Given the description of an element on the screen output the (x, y) to click on. 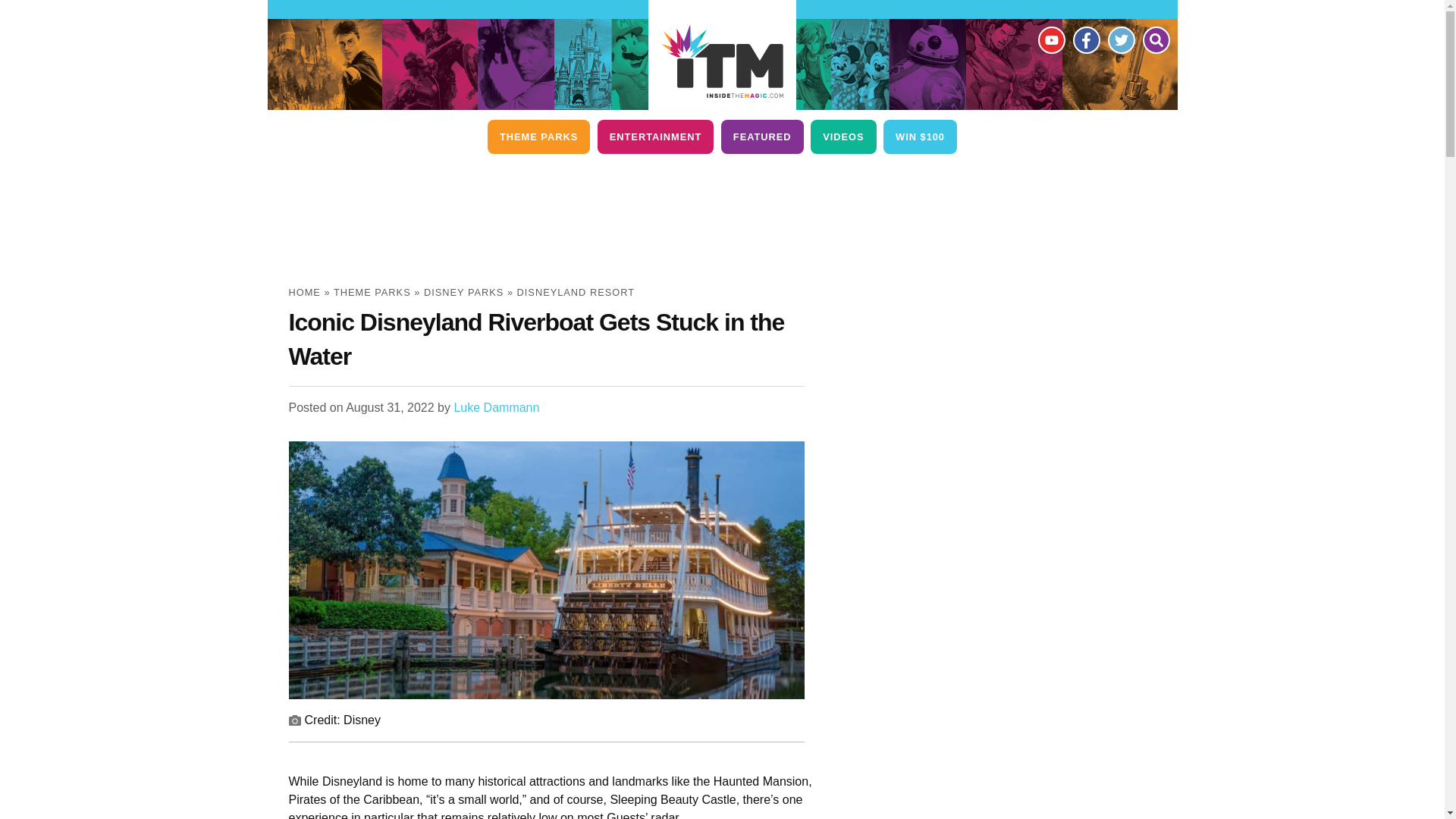
THEME PARKS (538, 136)
FEATURED (761, 136)
ENTERTAINMENT (655, 136)
YouTube (1050, 40)
Twitter (1120, 40)
Search (1155, 40)
Facebook (1085, 40)
